Given the description of an element on the screen output the (x, y) to click on. 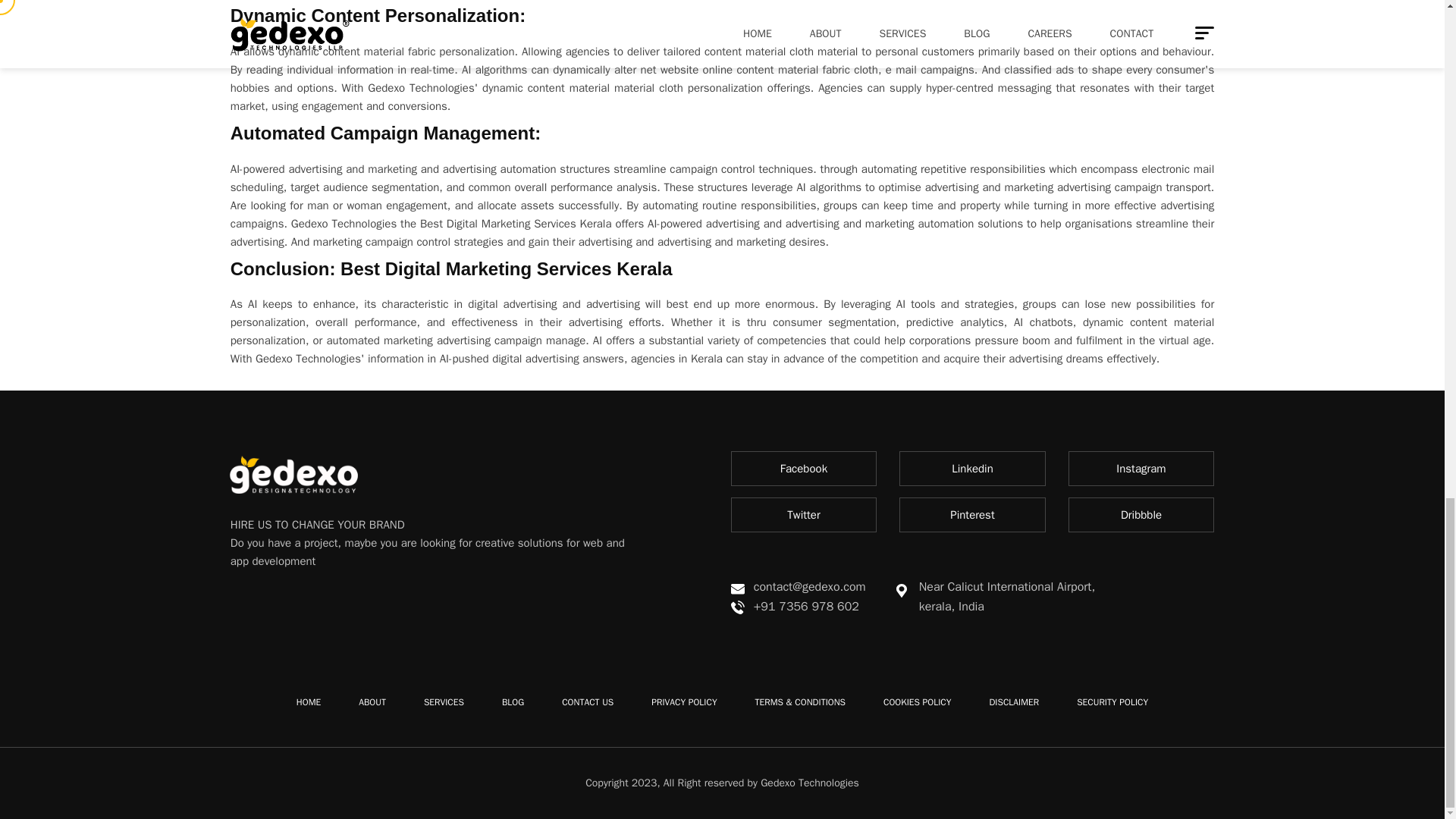
Dribbble (1141, 514)
SERVICES (443, 702)
Best Digital Marketing Services Kerala (513, 223)
HOME (308, 702)
ABOUT (371, 702)
Linkedin (972, 468)
Pinterest (972, 514)
Facebook (803, 468)
Best Digital Marketing Services Kerala (506, 268)
Instagram (1141, 468)
BLOG (513, 702)
Twitter (803, 514)
